Given the description of an element on the screen output the (x, y) to click on. 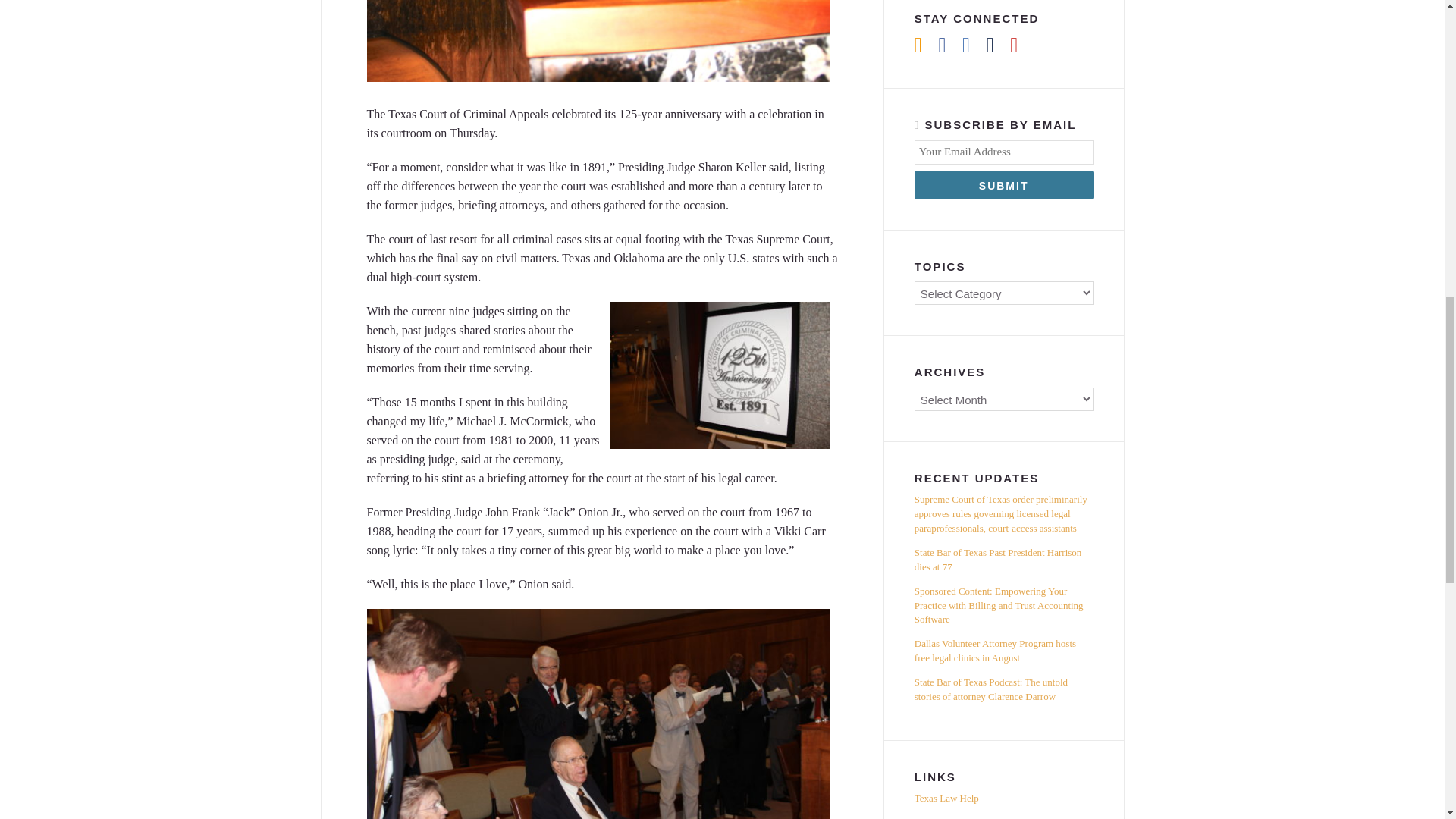
State Bar of Texas Past President Harrison dies at 77 (1003, 560)
SUBMIT (1003, 184)
SUBMIT (1003, 184)
TYLA.org (1003, 815)
Texas Law Help (1003, 800)
